Given the description of an element on the screen output the (x, y) to click on. 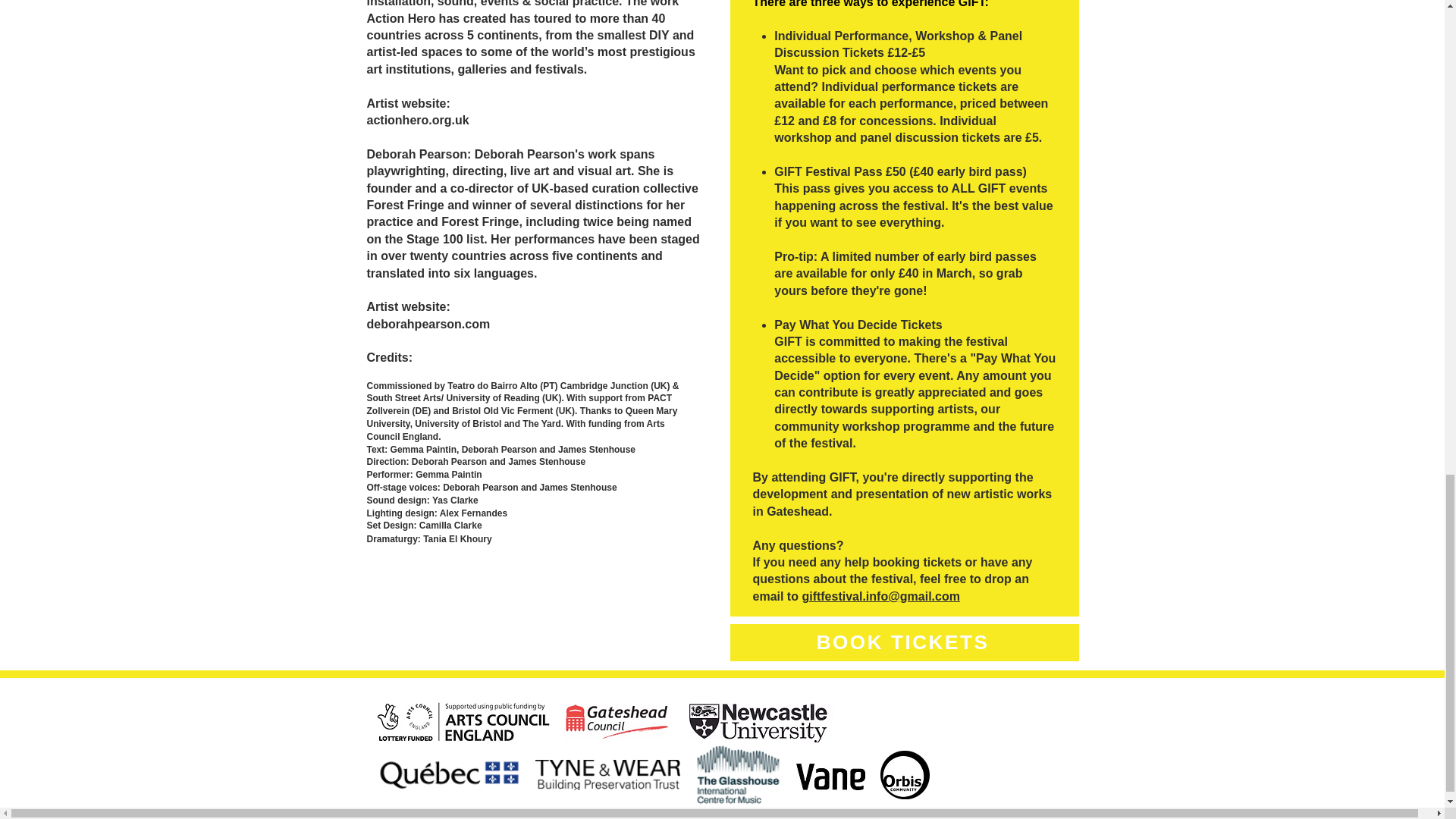
BOOK TICKETS (903, 642)
